Given the description of an element on the screen output the (x, y) to click on. 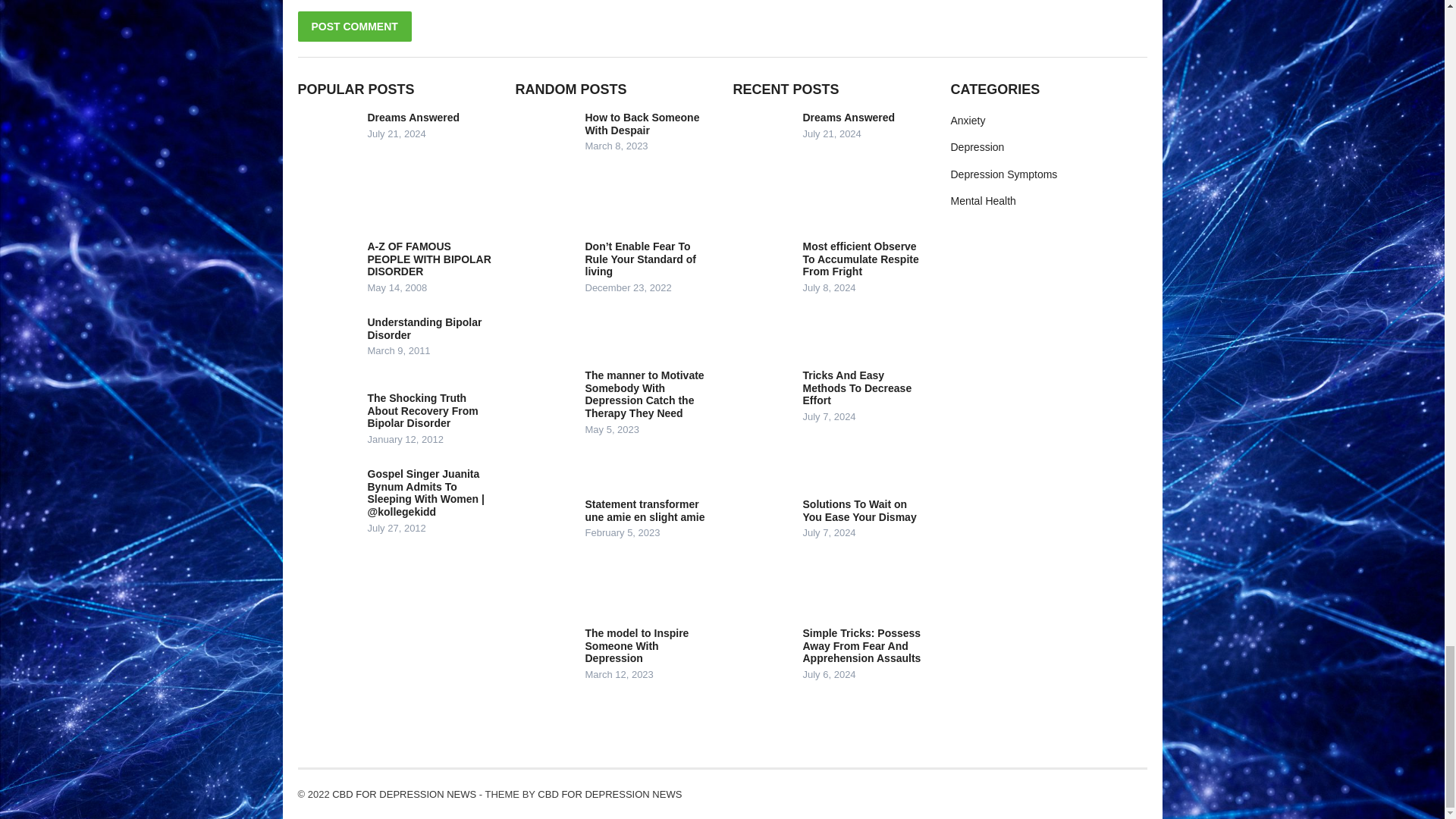
Post Comment (353, 26)
